Given the description of an element on the screen output the (x, y) to click on. 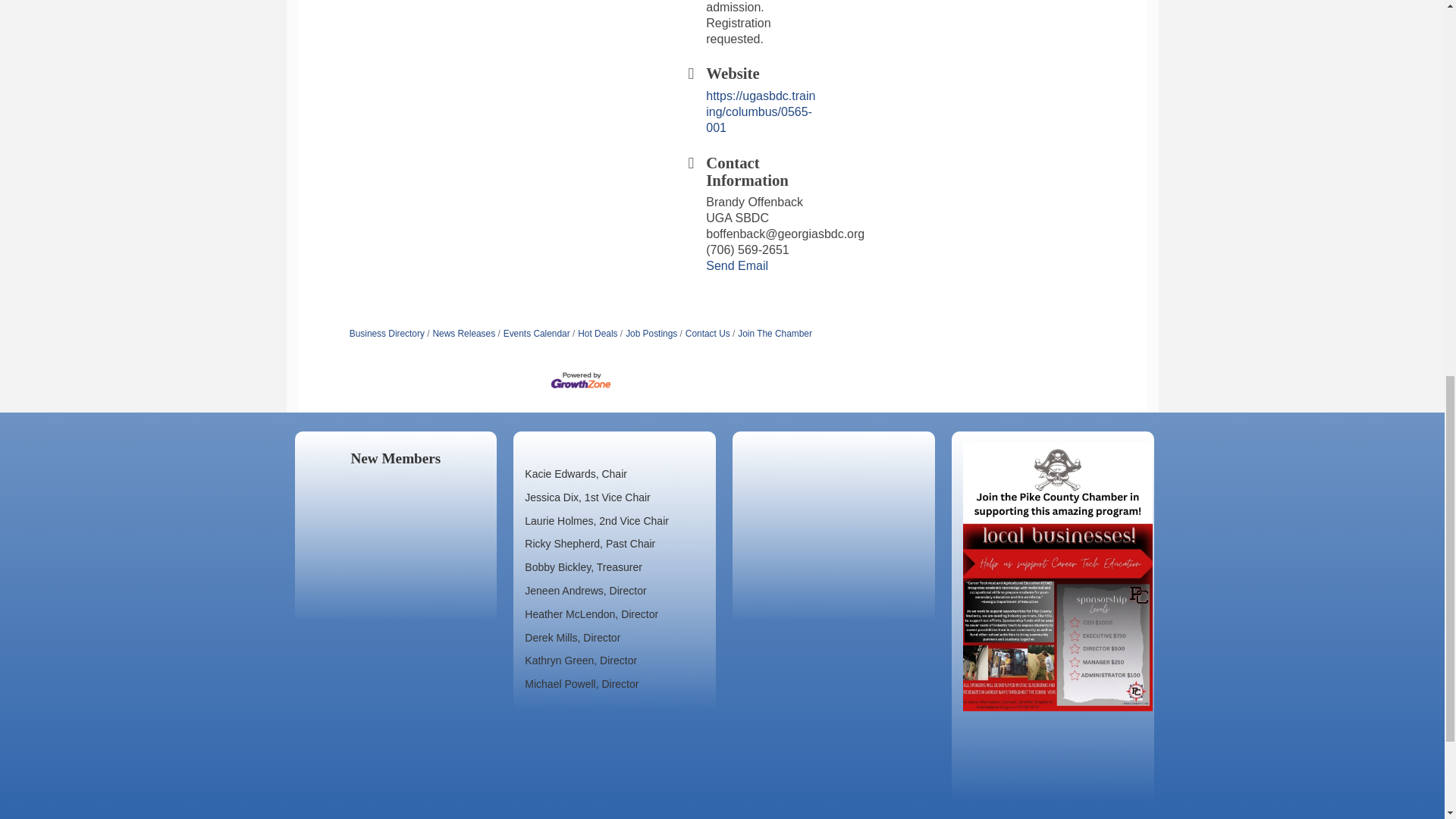
Send Email (737, 265)
Events Calendar (533, 333)
Hot Deals (594, 333)
News Releases (460, 333)
Business Directory (387, 333)
Job Postings (648, 333)
